Given the description of an element on the screen output the (x, y) to click on. 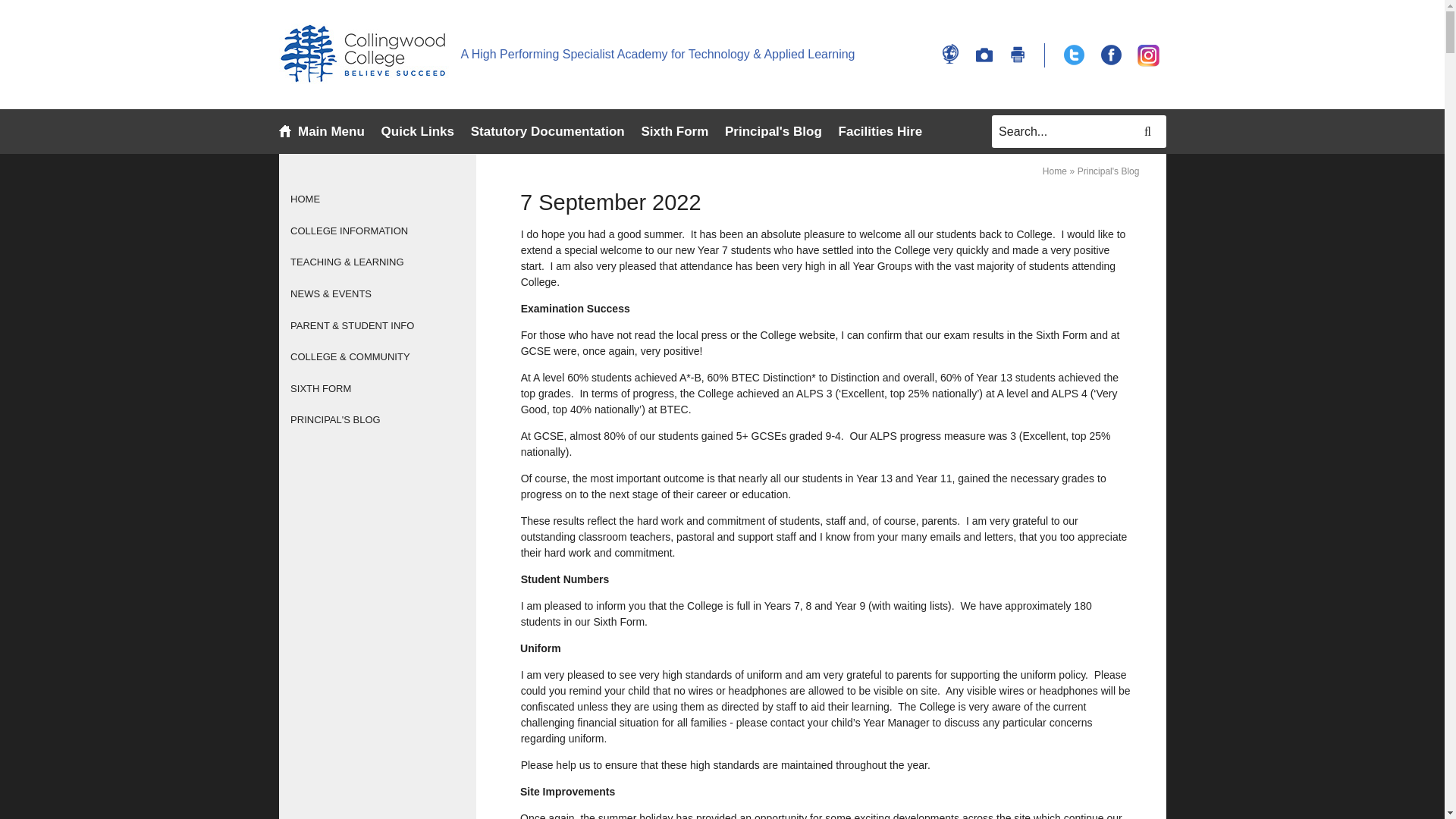
Sixth Form (673, 131)
Search... (1078, 131)
Twitter (1074, 54)
Facebook (1110, 54)
Quick Links (417, 131)
Main Menu (331, 131)
Facilities Hire (880, 131)
Statutory Documentation (547, 131)
Facilities Hire (880, 131)
Principal's Blog (773, 131)
